Given the description of an element on the screen output the (x, y) to click on. 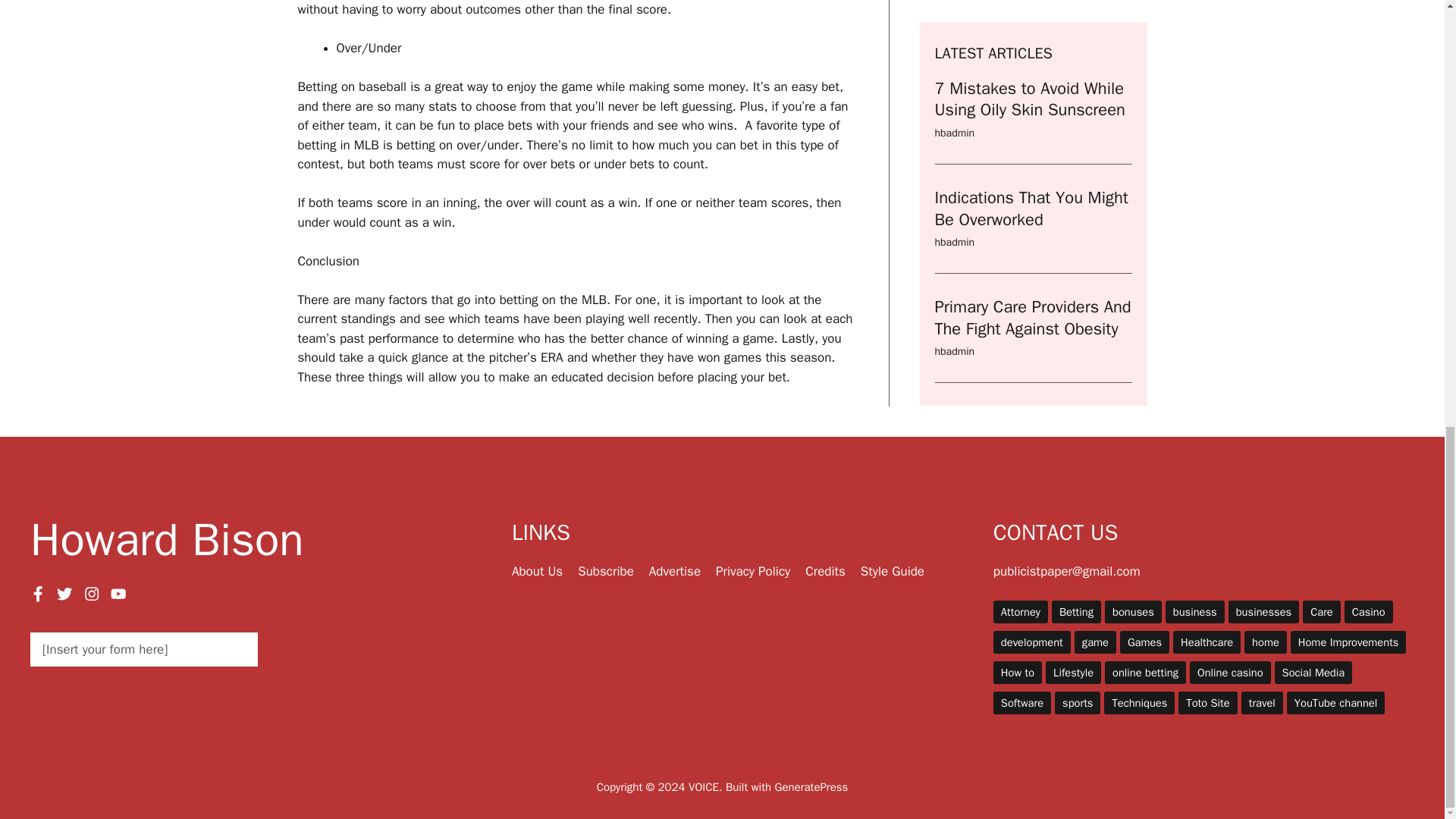
Casino (1368, 611)
business (1195, 611)
Attorney (1020, 611)
Healthcare (1206, 641)
businesses (1263, 611)
game (1095, 641)
Credits (825, 571)
Betting (1075, 611)
Advertise (674, 571)
Care (1321, 611)
development (1031, 641)
bonuses (1133, 611)
Style Guide (892, 571)
About Us (537, 571)
Subscribe (605, 571)
